Given the description of an element on the screen output the (x, y) to click on. 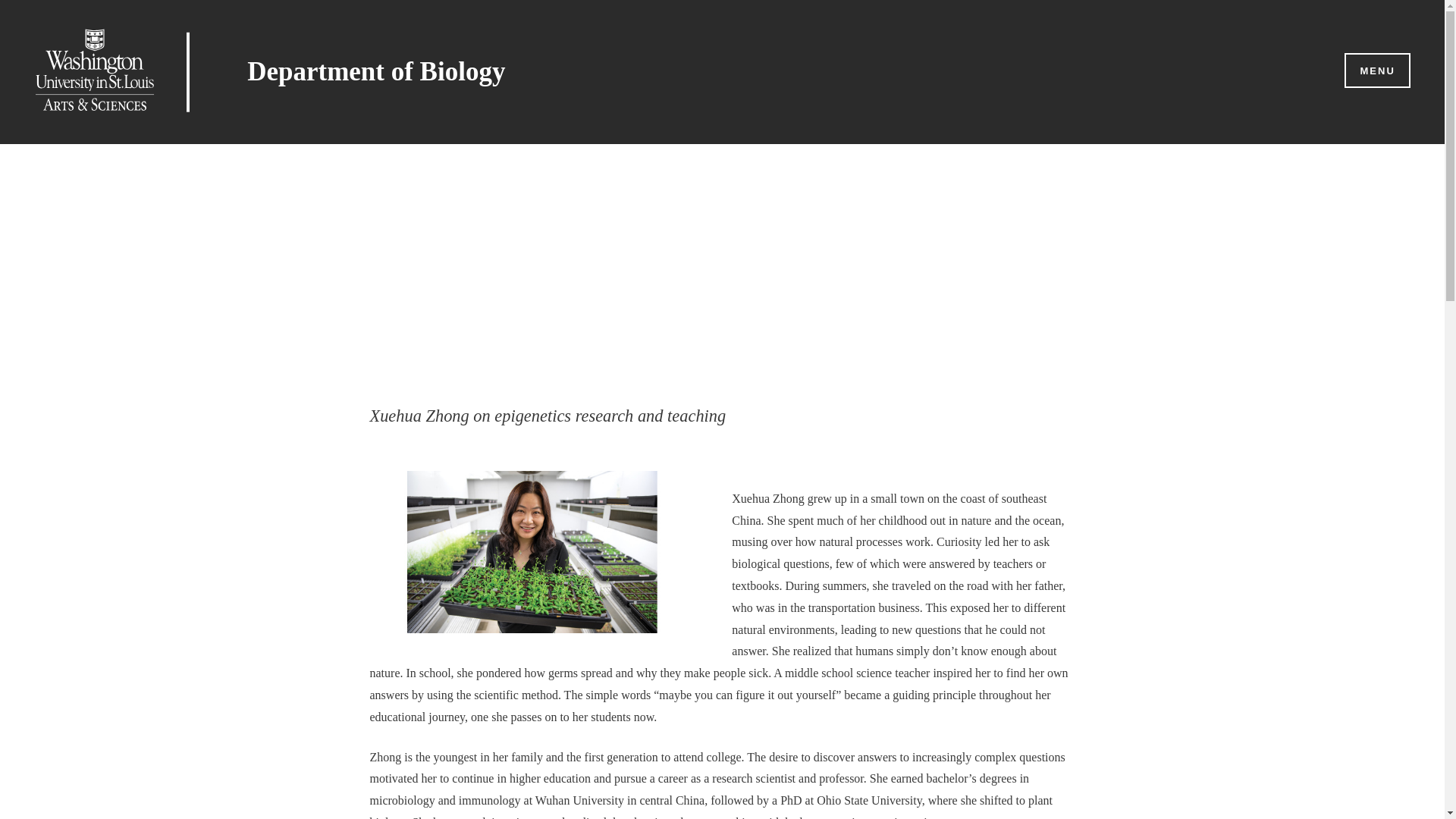
Department of Biology (376, 71)
MENU (1376, 71)
